Given the description of an element on the screen output the (x, y) to click on. 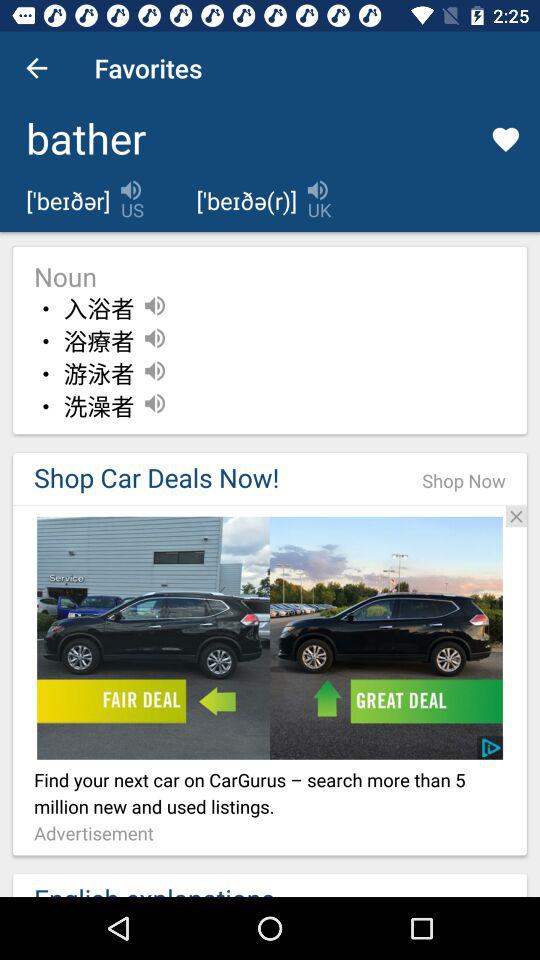
view advertisement (269, 505)
